Given the description of an element on the screen output the (x, y) to click on. 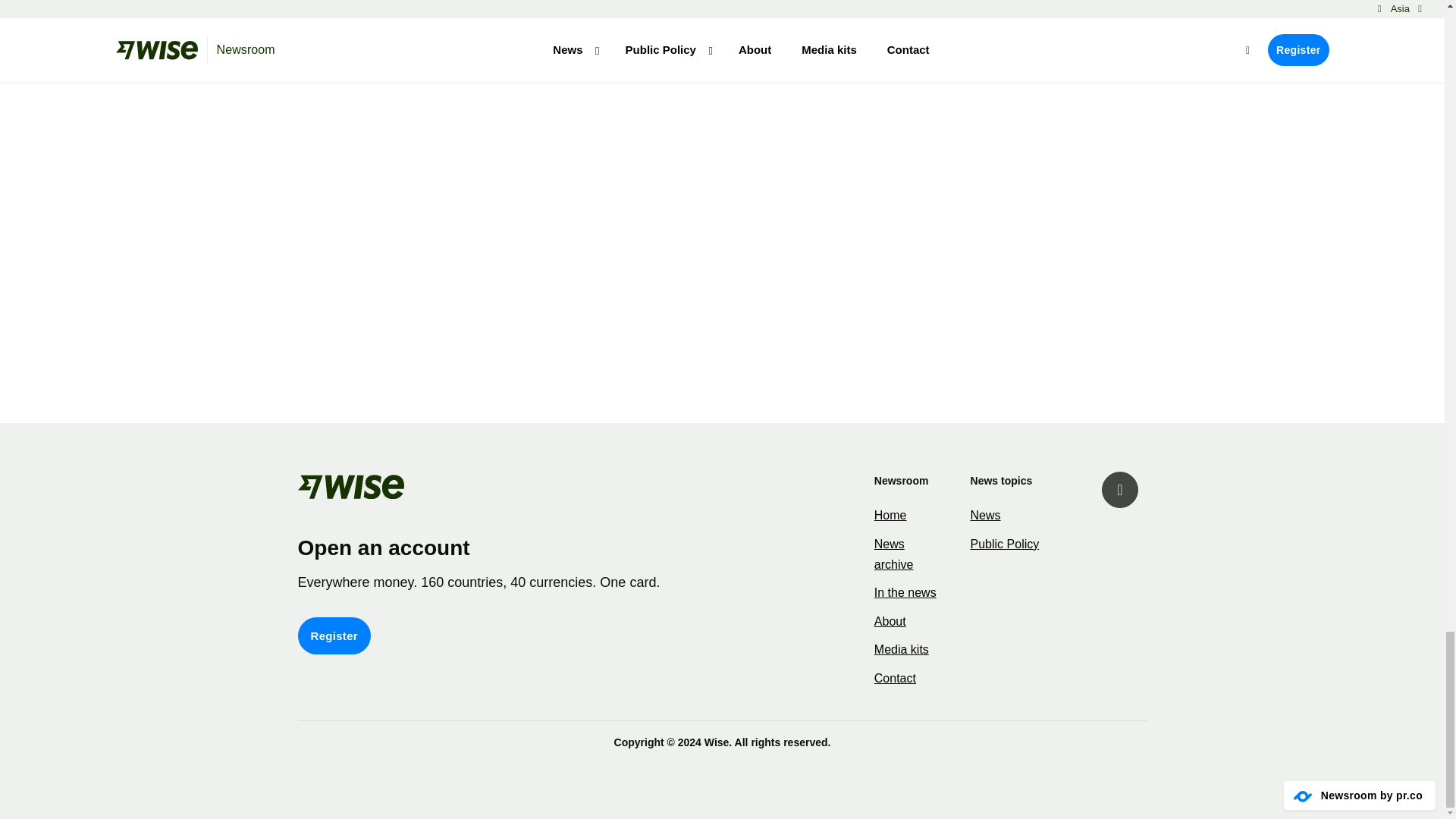
Newsroom powered by pr.co (1302, 796)
